Given the description of an element on the screen output the (x, y) to click on. 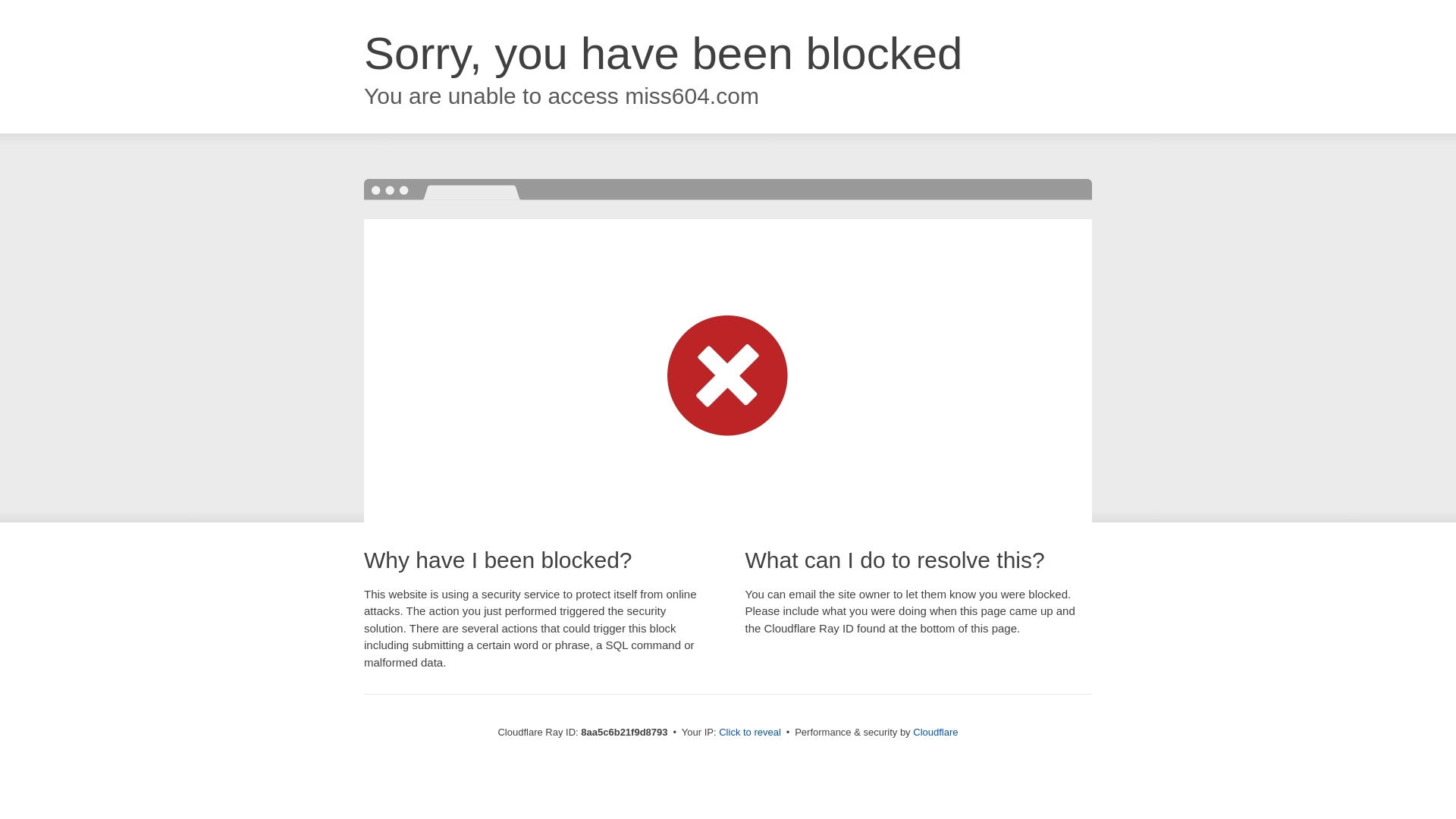
Click to reveal (749, 732)
Cloudflare (935, 731)
